Given the description of an element on the screen output the (x, y) to click on. 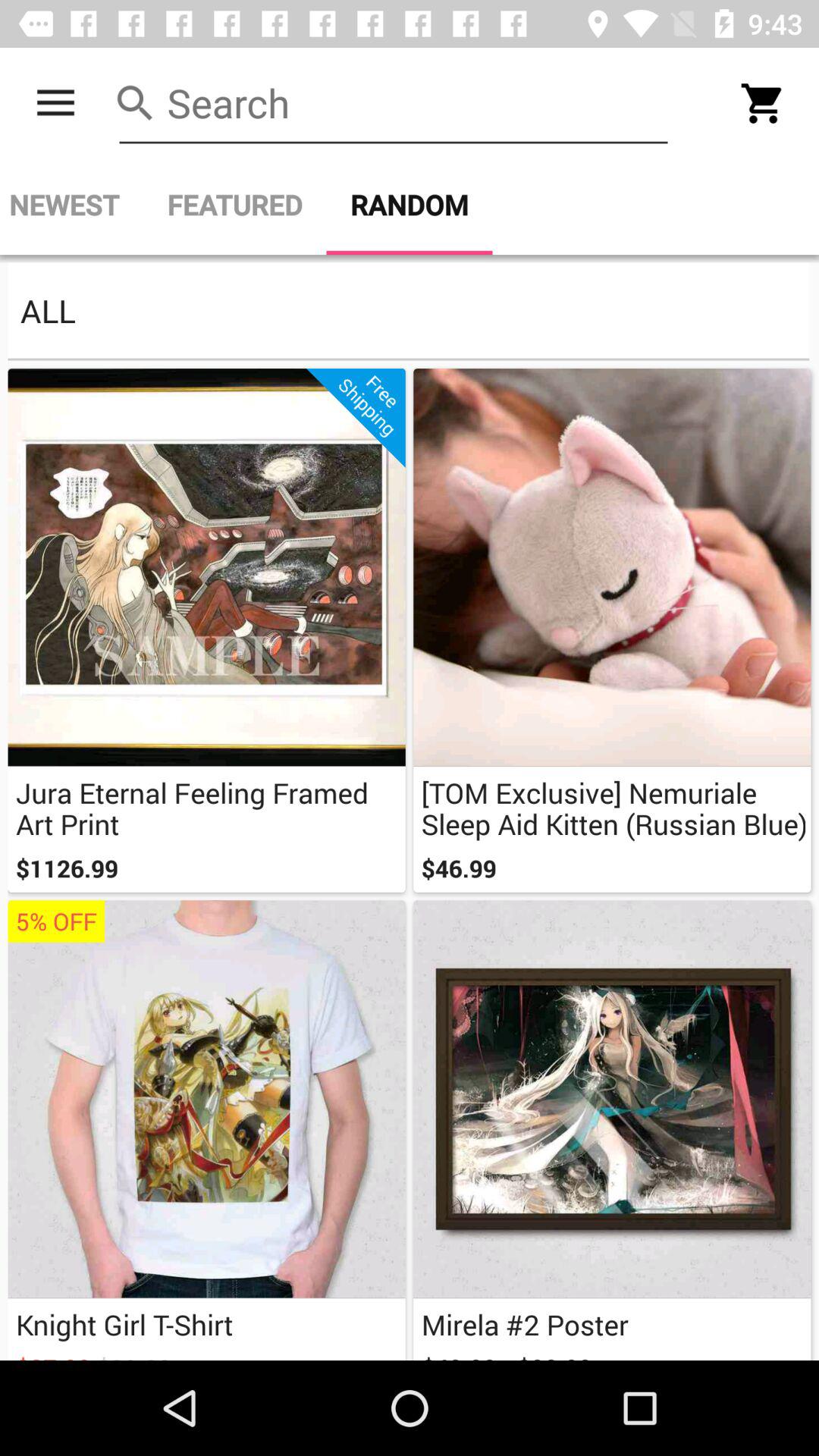
press the item next to the featured icon (71, 204)
